Given the description of an element on the screen output the (x, y) to click on. 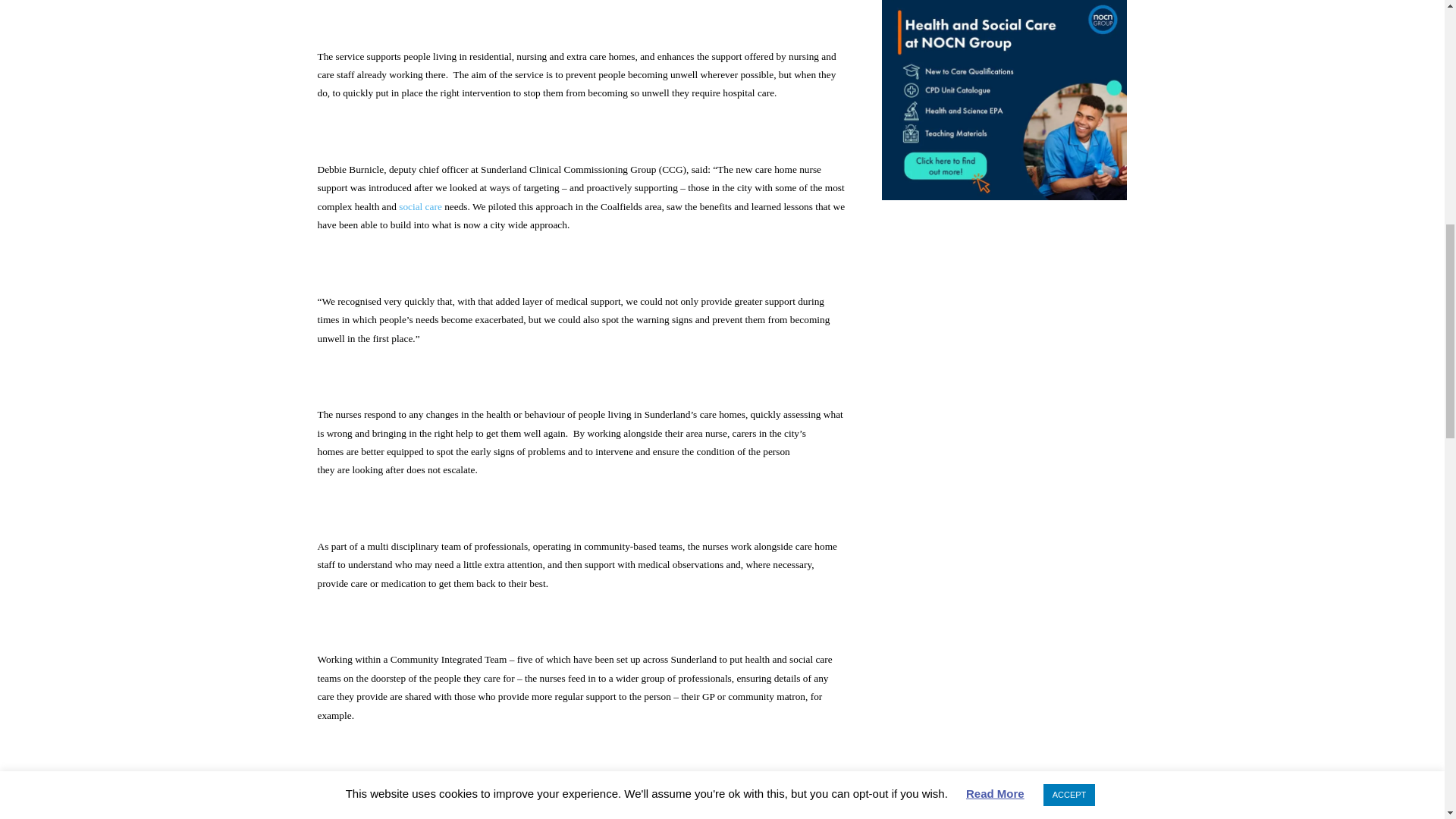
social care (420, 206)
